Given the description of an element on the screen output the (x, y) to click on. 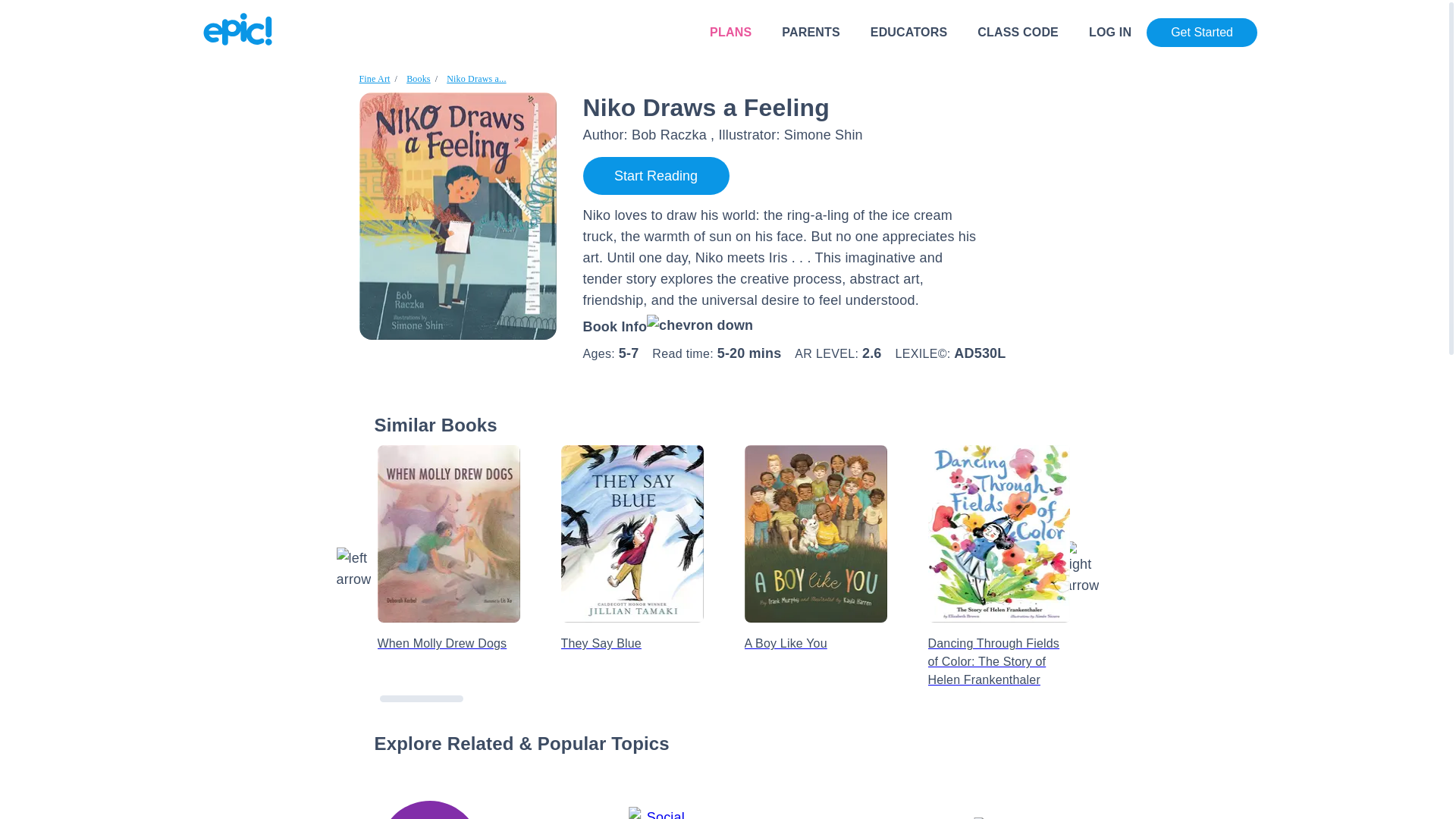
When Molly Drew Dogs (448, 533)
Epic (237, 29)
Start Reading (655, 175)
Books (418, 78)
A Boy Like You (815, 631)
Books (418, 78)
Fine Art (374, 78)
They Say Blue (631, 631)
They Say Blue (631, 533)
Niko Draws a... (475, 78)
Niko Draws a Feeling (475, 78)
The Magic Drawing (1360, 455)
Scribbles and Ink (1182, 468)
PARENTS (810, 31)
EDUCATORS (908, 31)
